Given the description of an element on the screen output the (x, y) to click on. 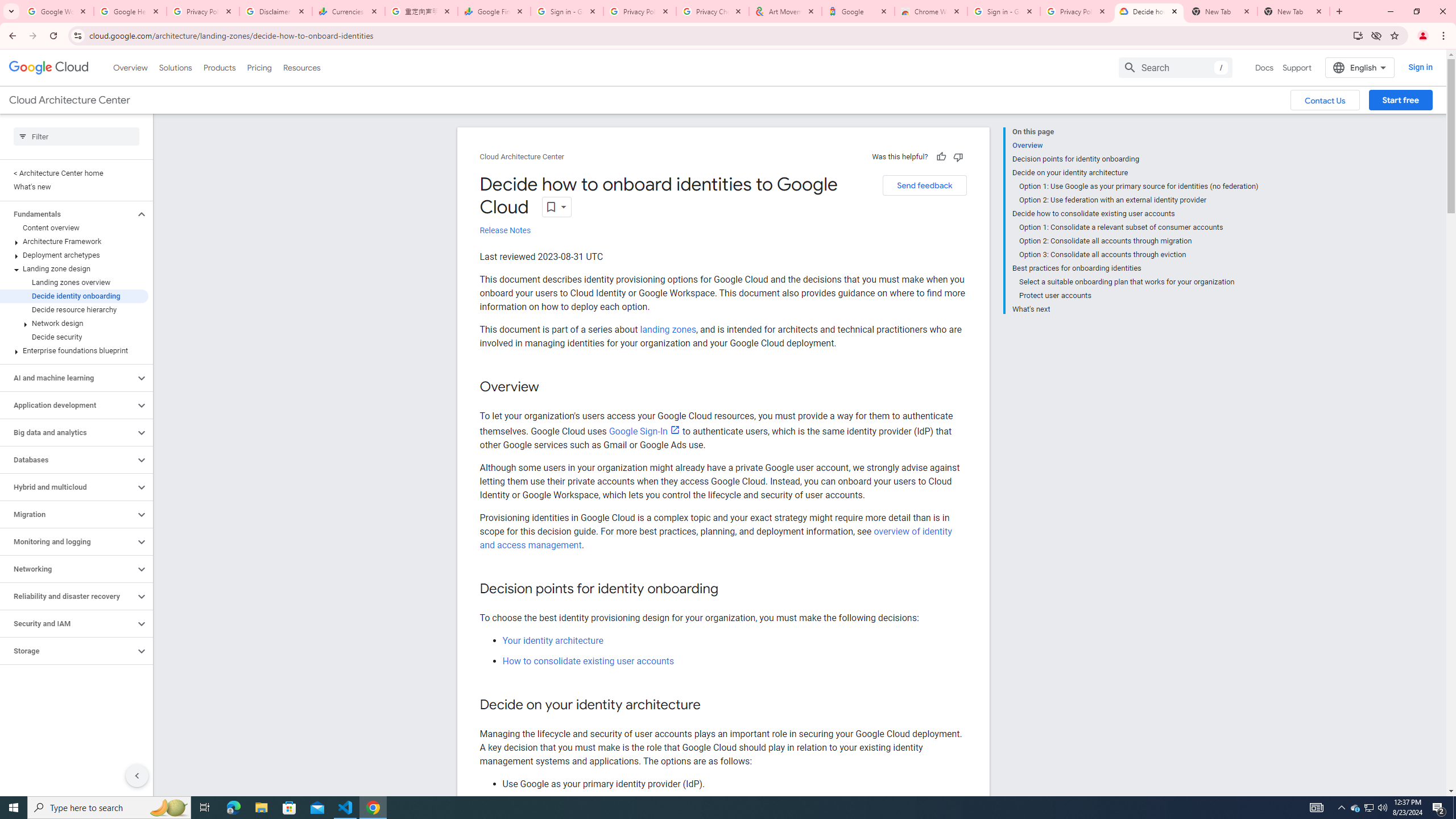
landing zones (667, 329)
Networking (67, 568)
What's next (1134, 307)
Option 2: Consolidate all accounts through migration (1138, 241)
Option 2: Use federation with an external identity provider (1138, 200)
Sign in - Google Accounts (1003, 11)
Architecture Framework (74, 241)
Start free (1400, 100)
